Given the description of an element on the screen output the (x, y) to click on. 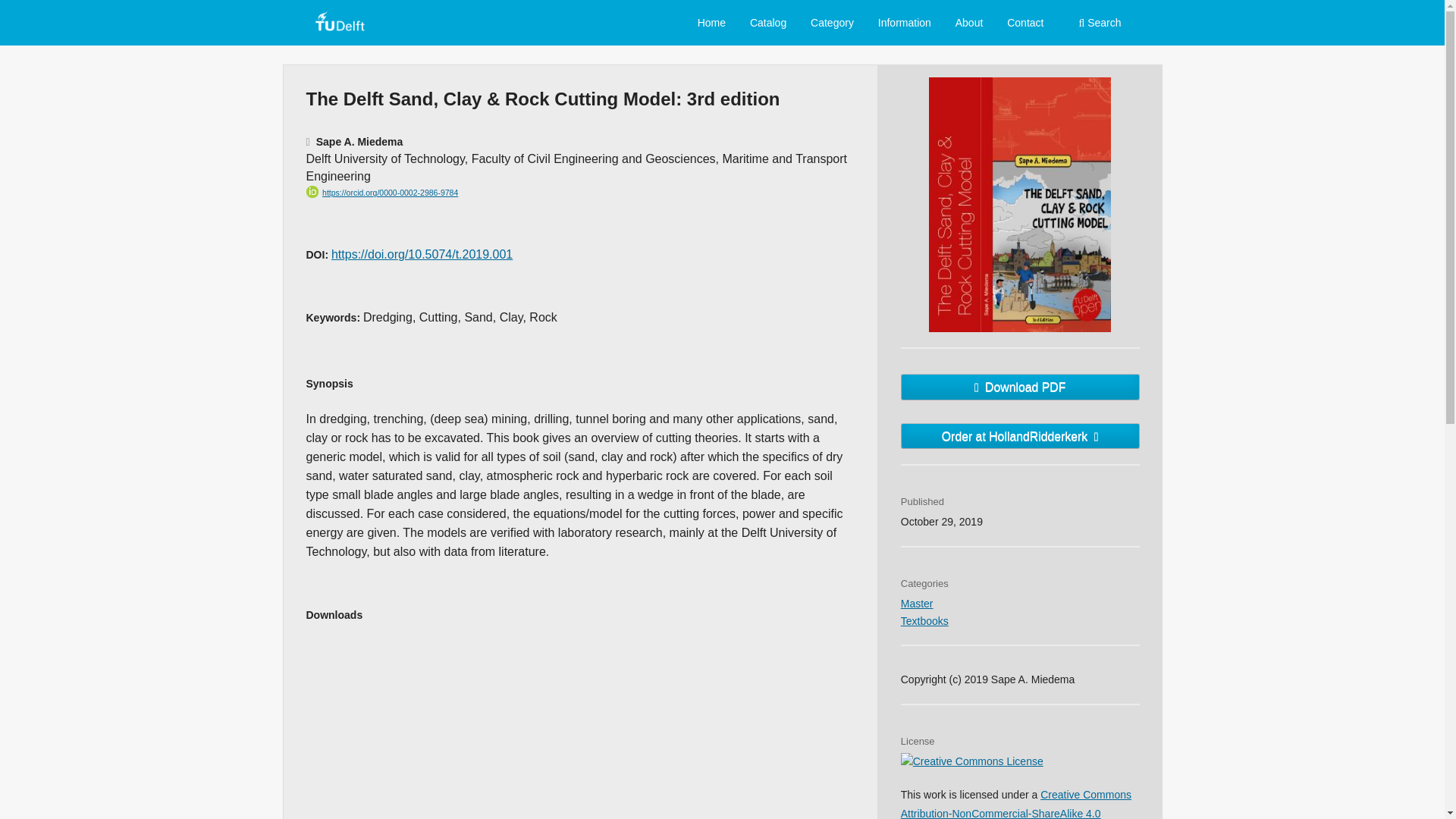
Textbooks (925, 621)
Contact (1024, 24)
Order at HollandRidderkerk (1020, 436)
Information (904, 24)
Home (711, 24)
Category (832, 24)
Master (917, 603)
Catalog (768, 24)
Download PDF (1020, 386)
